Given the description of an element on the screen output the (x, y) to click on. 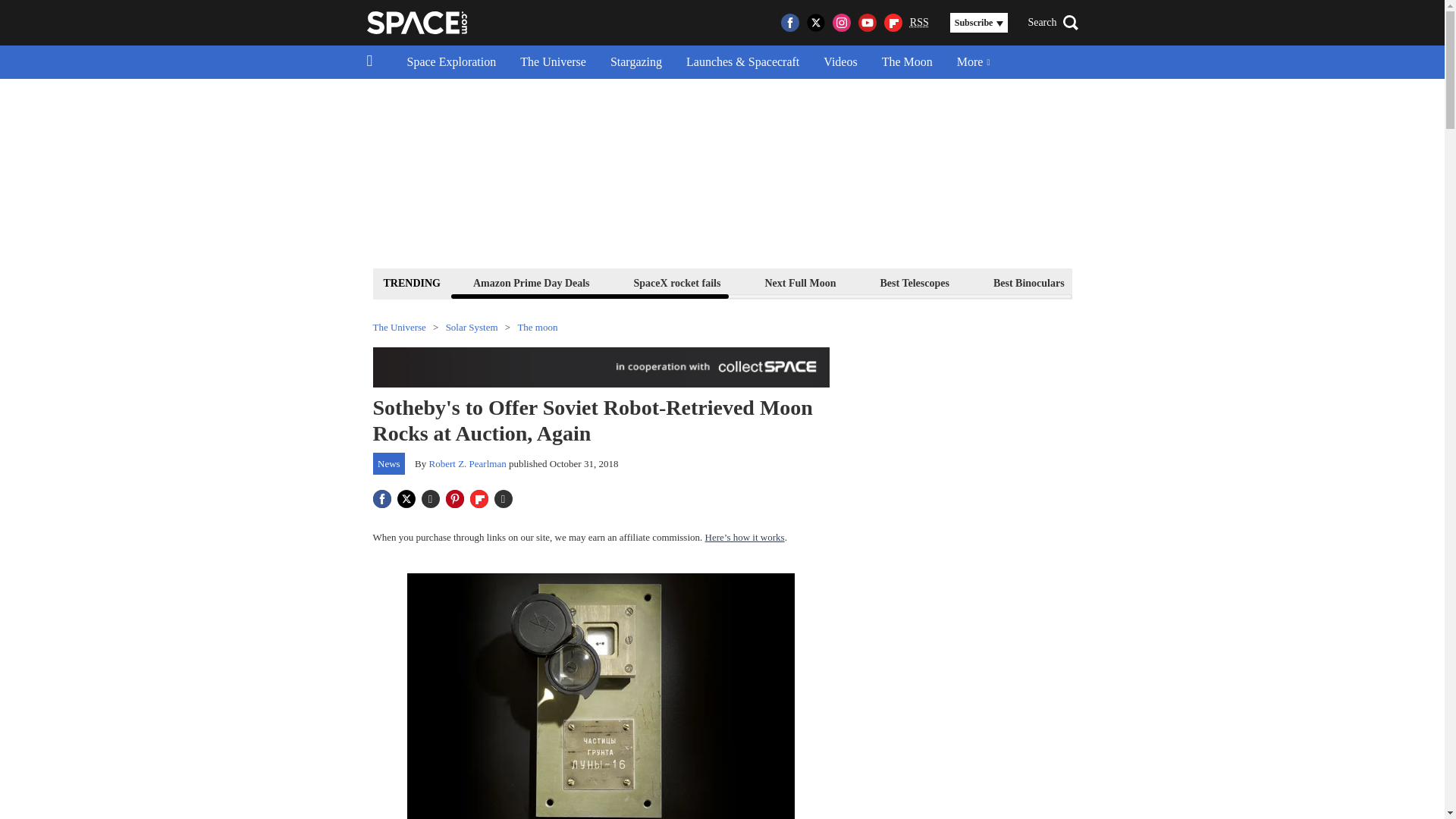
Stargazing (636, 61)
Really Simple Syndication (919, 21)
Space Calendar (1279, 282)
RSS (919, 22)
Best Star Projectors (1154, 282)
SpaceX rocket fails (677, 282)
Space Exploration (451, 61)
Amazon Prime Day Deals (531, 282)
Best Telescopes (915, 282)
Videos (839, 61)
The Universe (553, 61)
Best Binoculars (1029, 282)
The Moon (906, 61)
Next Full Moon (799, 282)
